Given the description of an element on the screen output the (x, y) to click on. 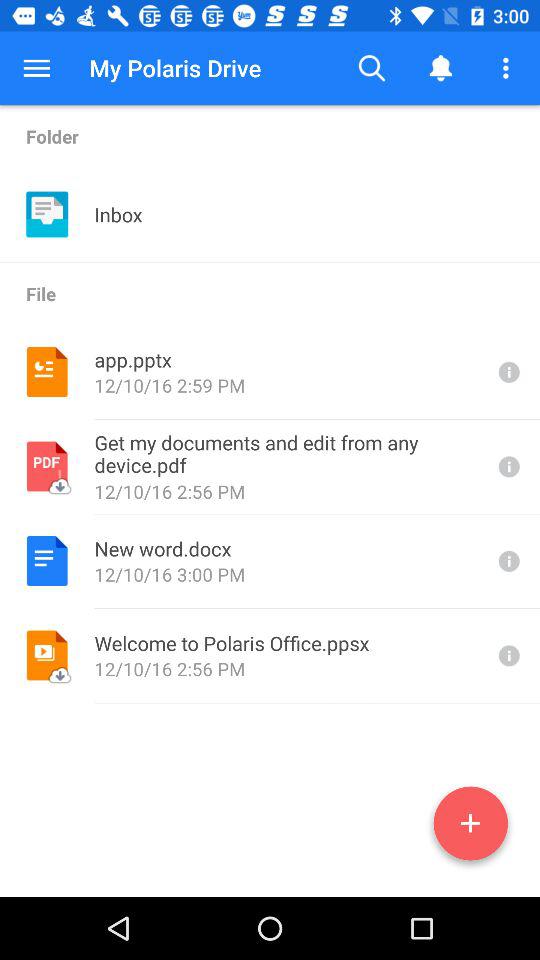
open the item to the left of the my polaris drive (36, 68)
